Given the description of an element on the screen output the (x, y) to click on. 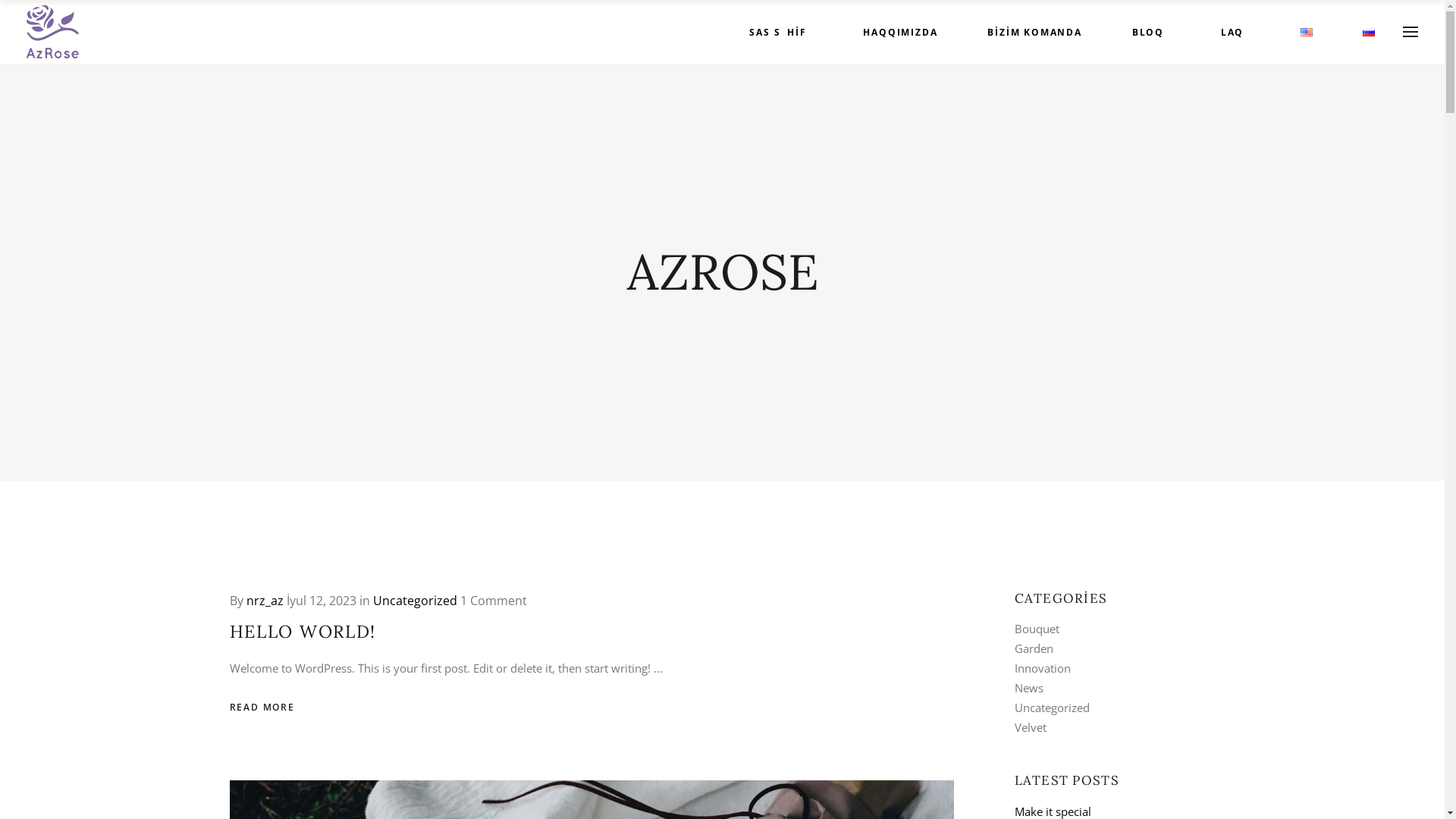
Uncategorized Element type: text (1051, 707)
Innovation Element type: text (1042, 667)
HAQQIMIZDA Element type: text (899, 31)
READ MORE Element type: text (261, 706)
Garden Element type: text (1033, 647)
Uncategorized Element type: text (415, 600)
Velvet Element type: text (1030, 726)
BIZIM KOMANDA Element type: text (1034, 31)
HELLO WORLD! Element type: text (302, 631)
BLOQ Element type: text (1148, 31)
1 Comment Element type: text (492, 600)
News Element type: text (1028, 687)
nrz_az Element type: text (263, 600)
Bouquet Element type: text (1036, 628)
